Given the description of an element on the screen output the (x, y) to click on. 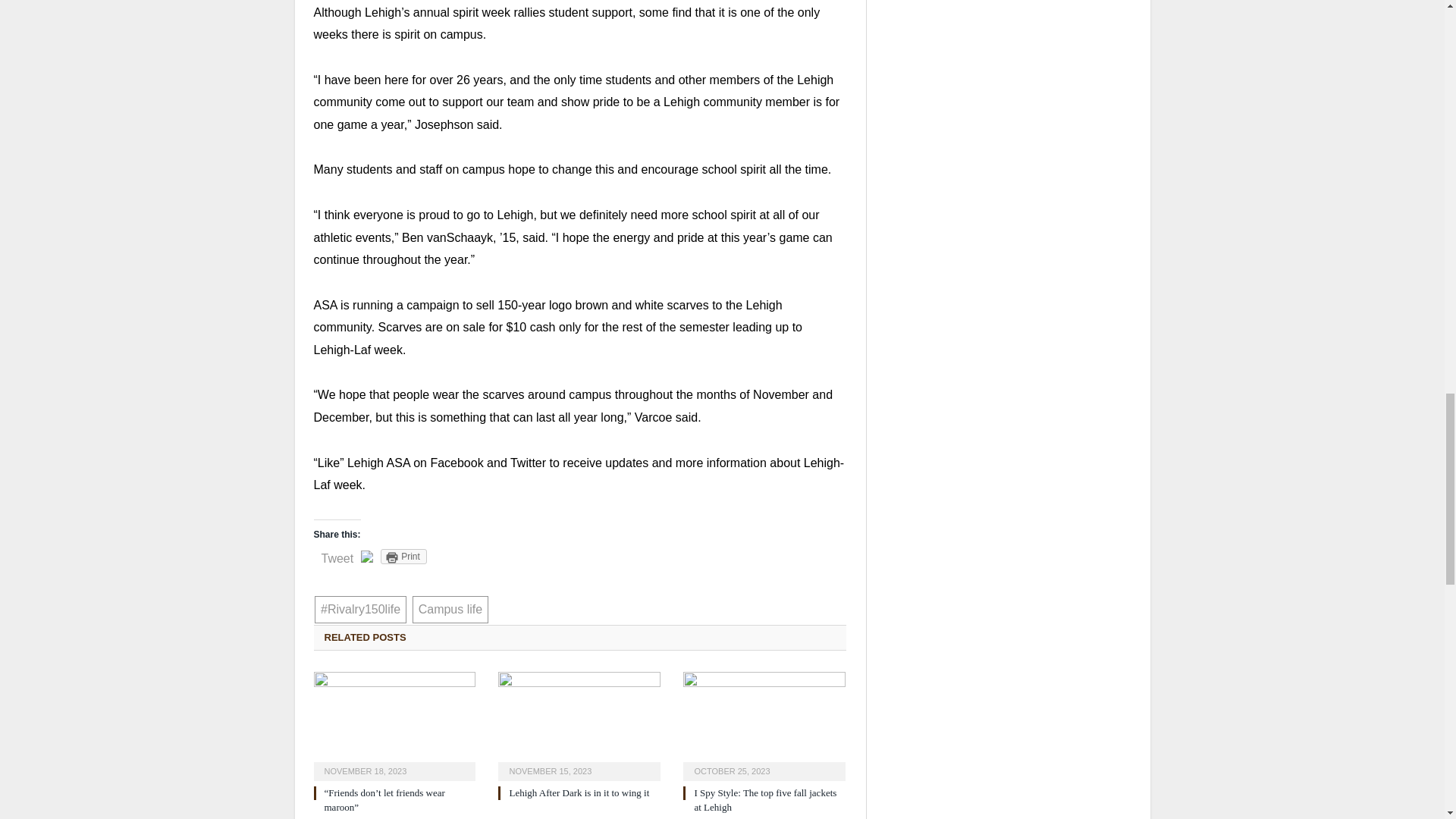
Click to print (403, 556)
Lehigh After Dark is in it to wing it (579, 724)
